Given the description of an element on the screen output the (x, y) to click on. 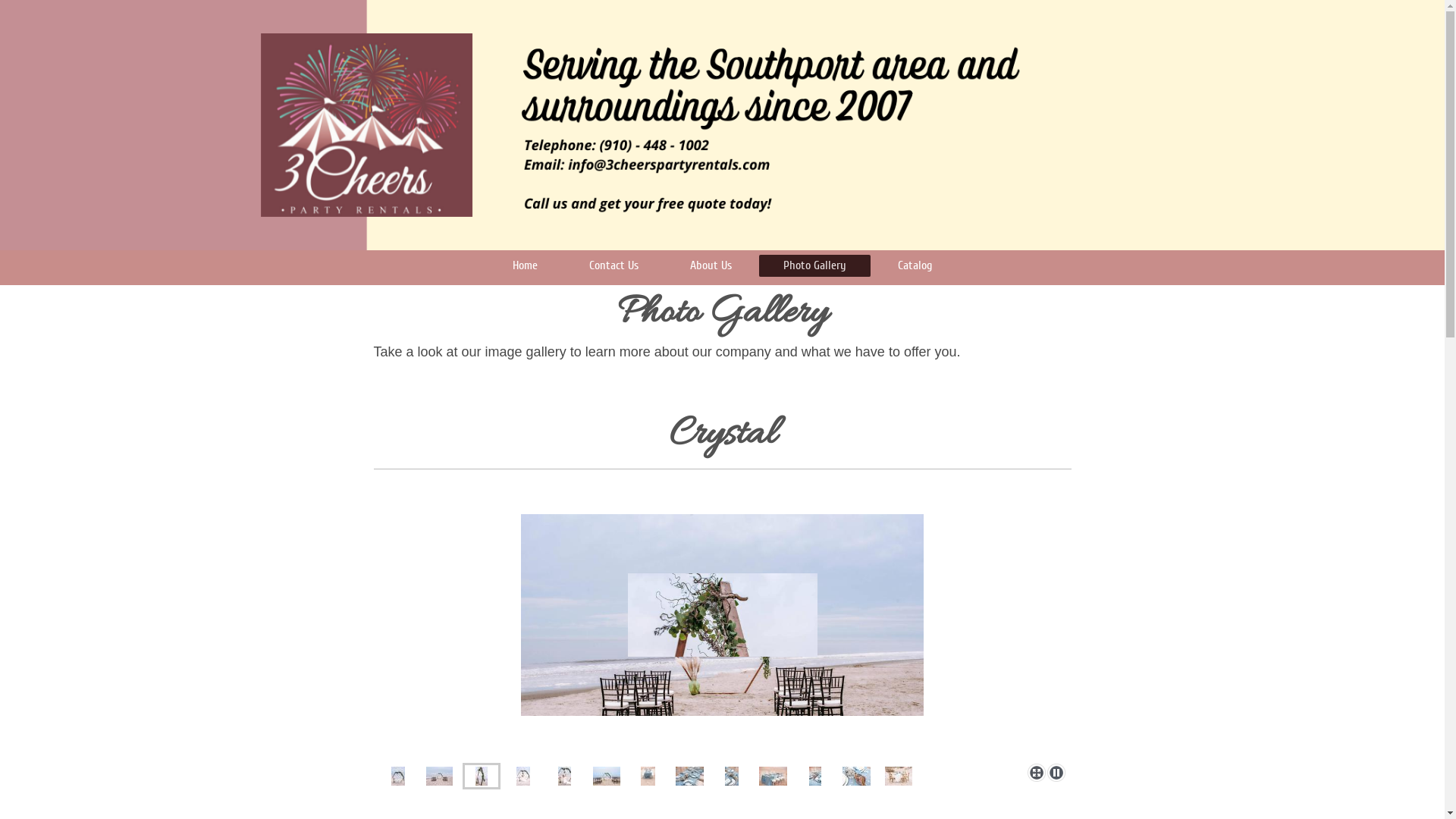
Contact Us Element type: text (613, 265)
Photo Gallery Element type: text (814, 265)
About Us Element type: text (710, 265)
Home Element type: text (524, 265)
Catalog Element type: text (914, 265)
